Given the description of an element on the screen output the (x, y) to click on. 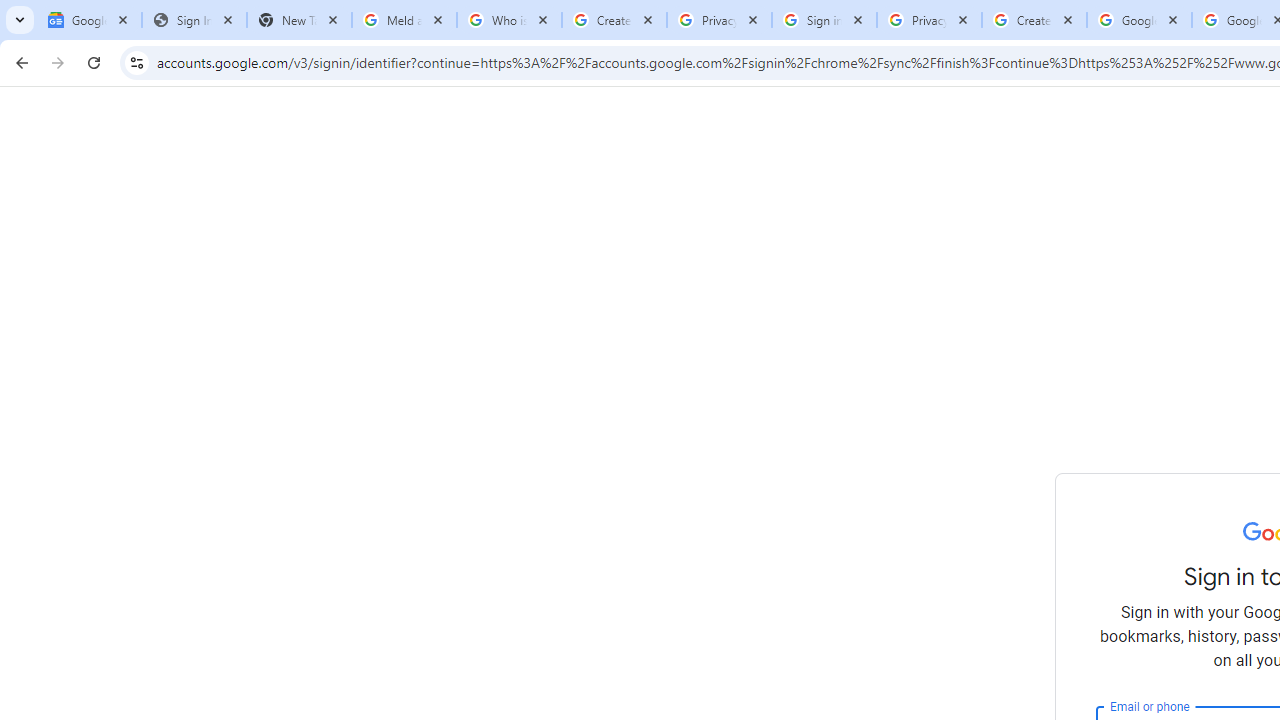
Sign In - USA TODAY (194, 20)
